Given the description of an element on the screen output the (x, y) to click on. 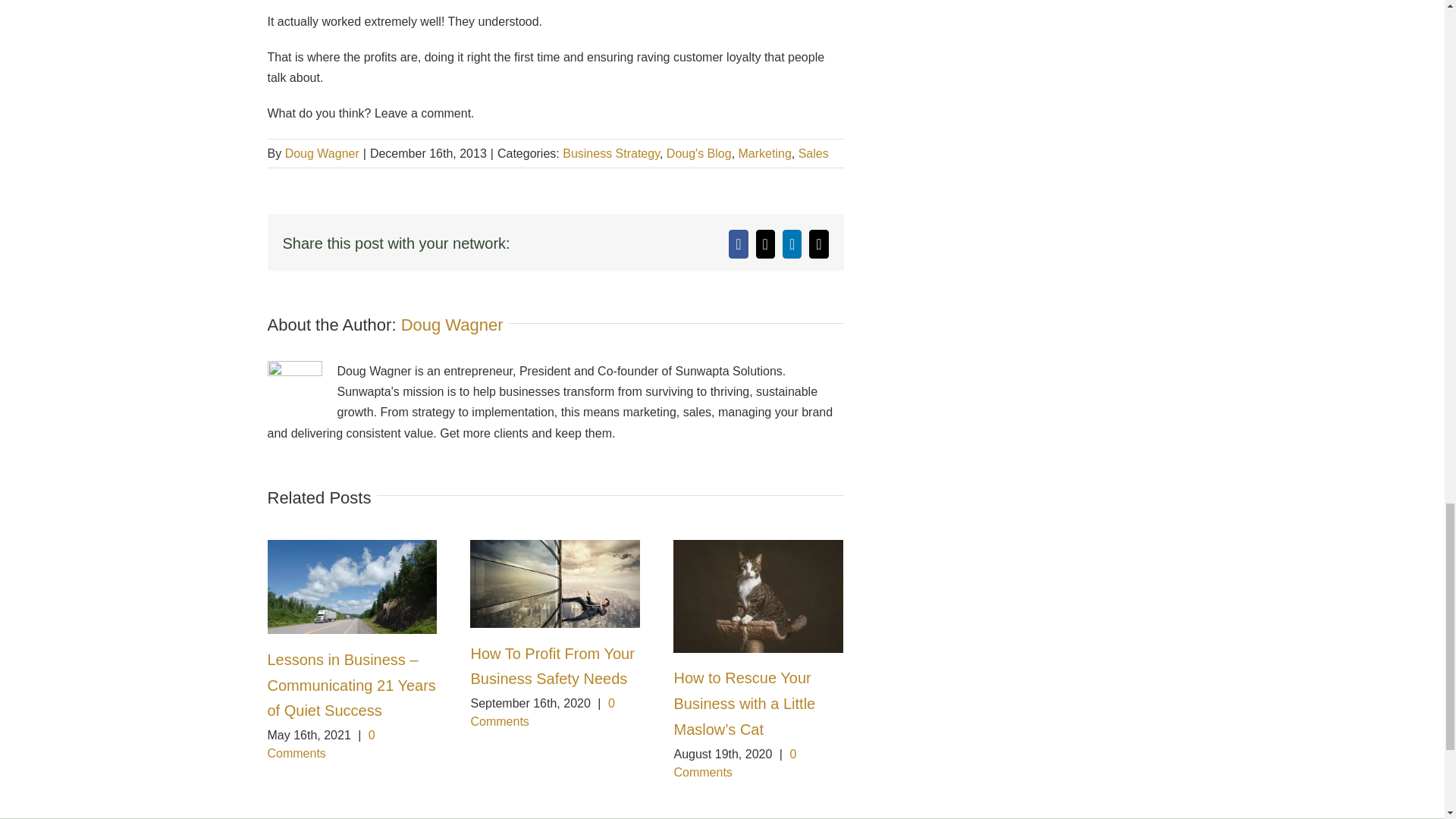
Posts by Doug Wagner (452, 324)
Doug Wagner (452, 324)
Business Strategy (610, 153)
Marketing (765, 153)
0 Comments (542, 712)
Posts by Doug Wagner (322, 153)
How To Profit From Your Business Safety Needs (551, 666)
Sales (812, 153)
0 Comments (320, 744)
Doug Wagner (322, 153)
